Given the description of an element on the screen output the (x, y) to click on. 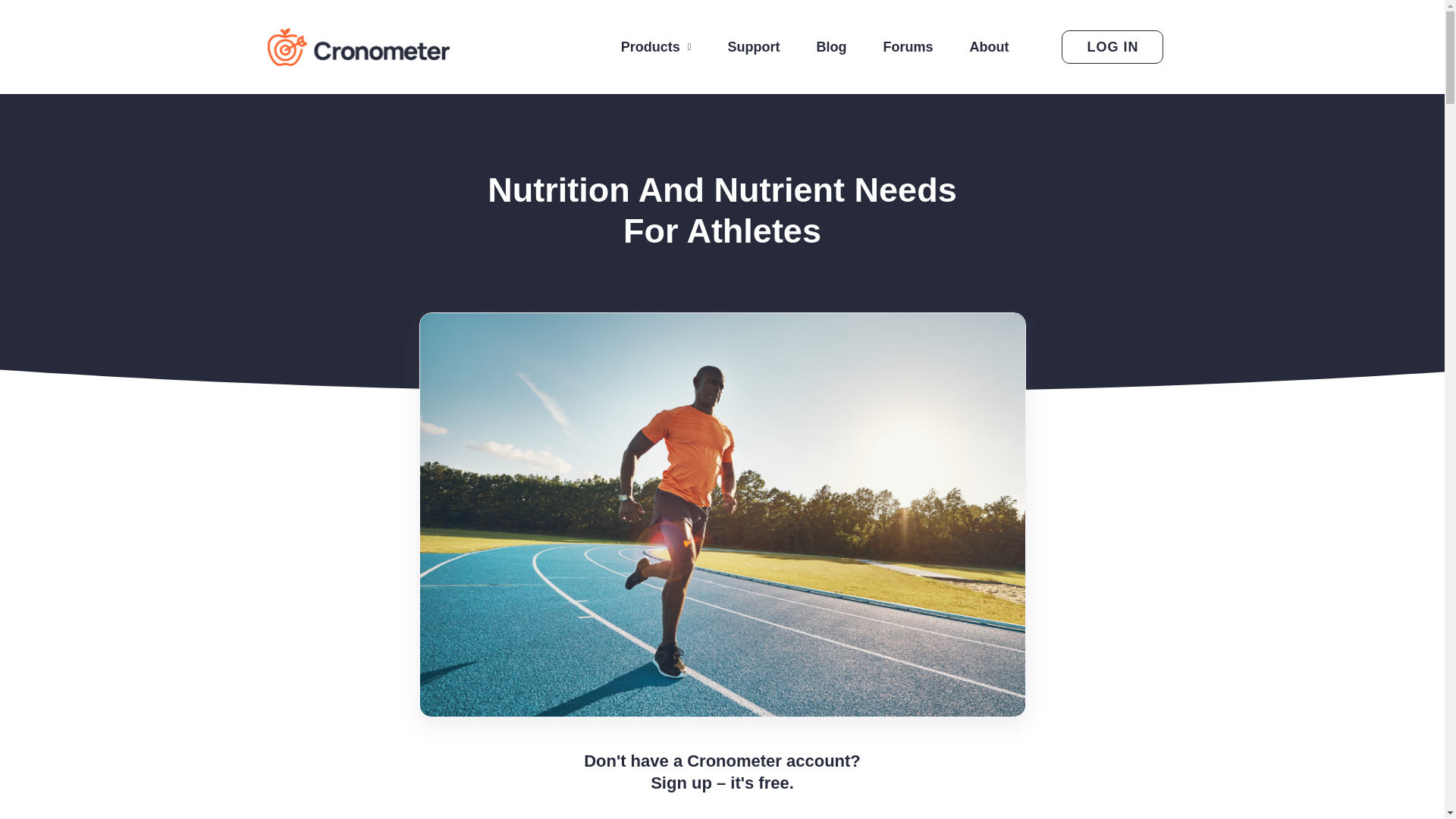
Products (656, 46)
Forums (907, 46)
LOG IN (1112, 46)
About (988, 46)
Support (753, 46)
